Given the description of an element on the screen output the (x, y) to click on. 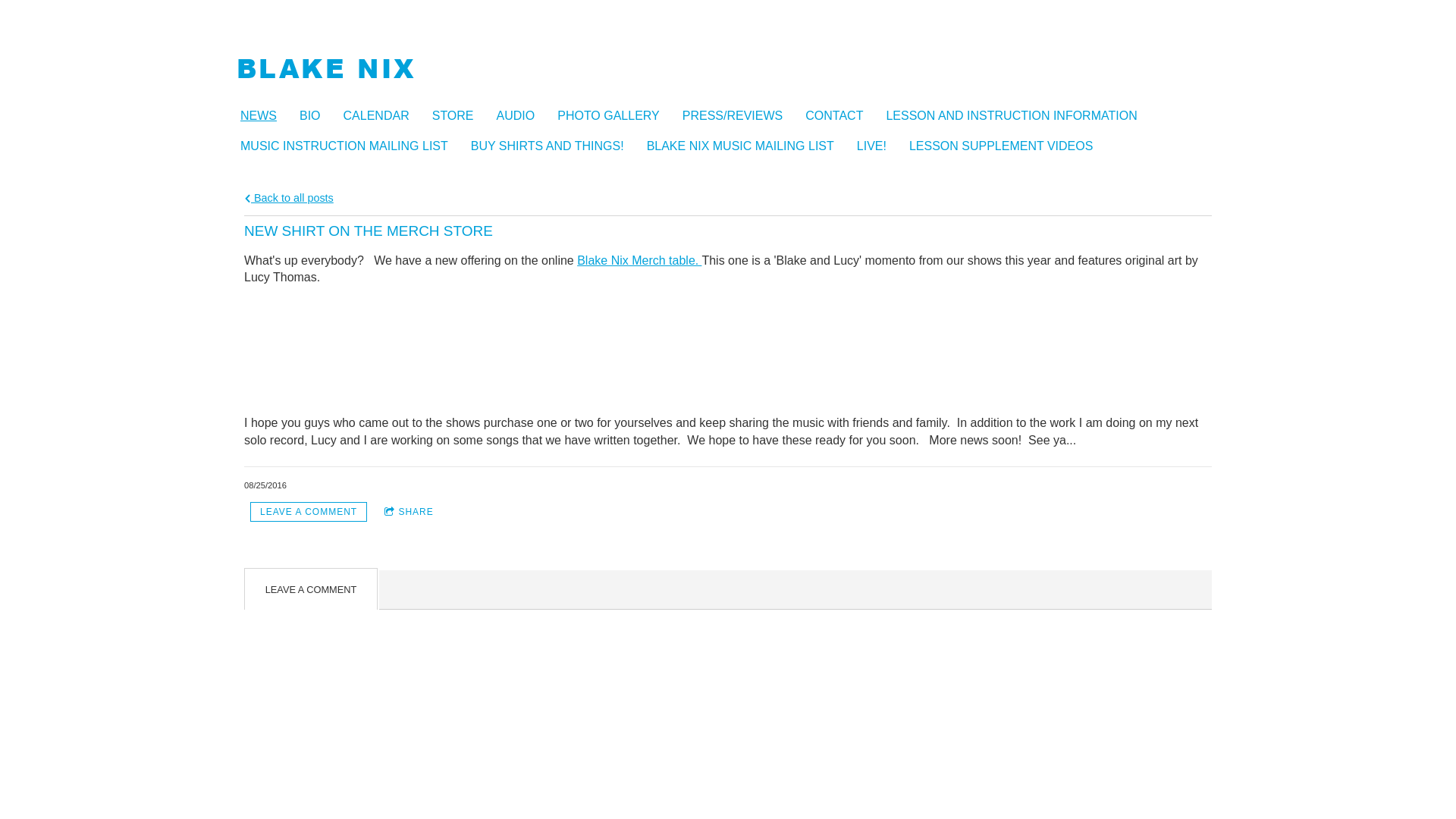
LEAVE A COMMENT Element type: text (308, 512)
CALENDAR Element type: text (383, 115)
AUDIO Element type: text (523, 115)
PRESS/REVIEWS Element type: text (739, 115)
LESSON SUPPLEMENT VIDEOS Element type: text (1008, 146)
BLAKE NIX Element type: text (326, 70)
BLAKE NIX MUSIC MAILING LIST Element type: text (747, 146)
Back to all posts Element type: text (288, 197)
BIO Element type: text (317, 115)
MUSIC INSTRUCTION MAILING LIST Element type: text (351, 146)
LESSON AND INSTRUCTION INFORMATION Element type: text (1018, 115)
NEWS Element type: text (265, 115)
CONTACT Element type: text (841, 115)
Blake Nix Merch table. Element type: text (639, 260)
STORE Element type: text (460, 115)
LIVE! Element type: text (878, 146)
BUY SHIRTS AND THINGS! Element type: text (554, 146)
PHOTO GALLERY Element type: text (615, 115)
SHARE Element type: text (408, 511)
